Given the description of an element on the screen output the (x, y) to click on. 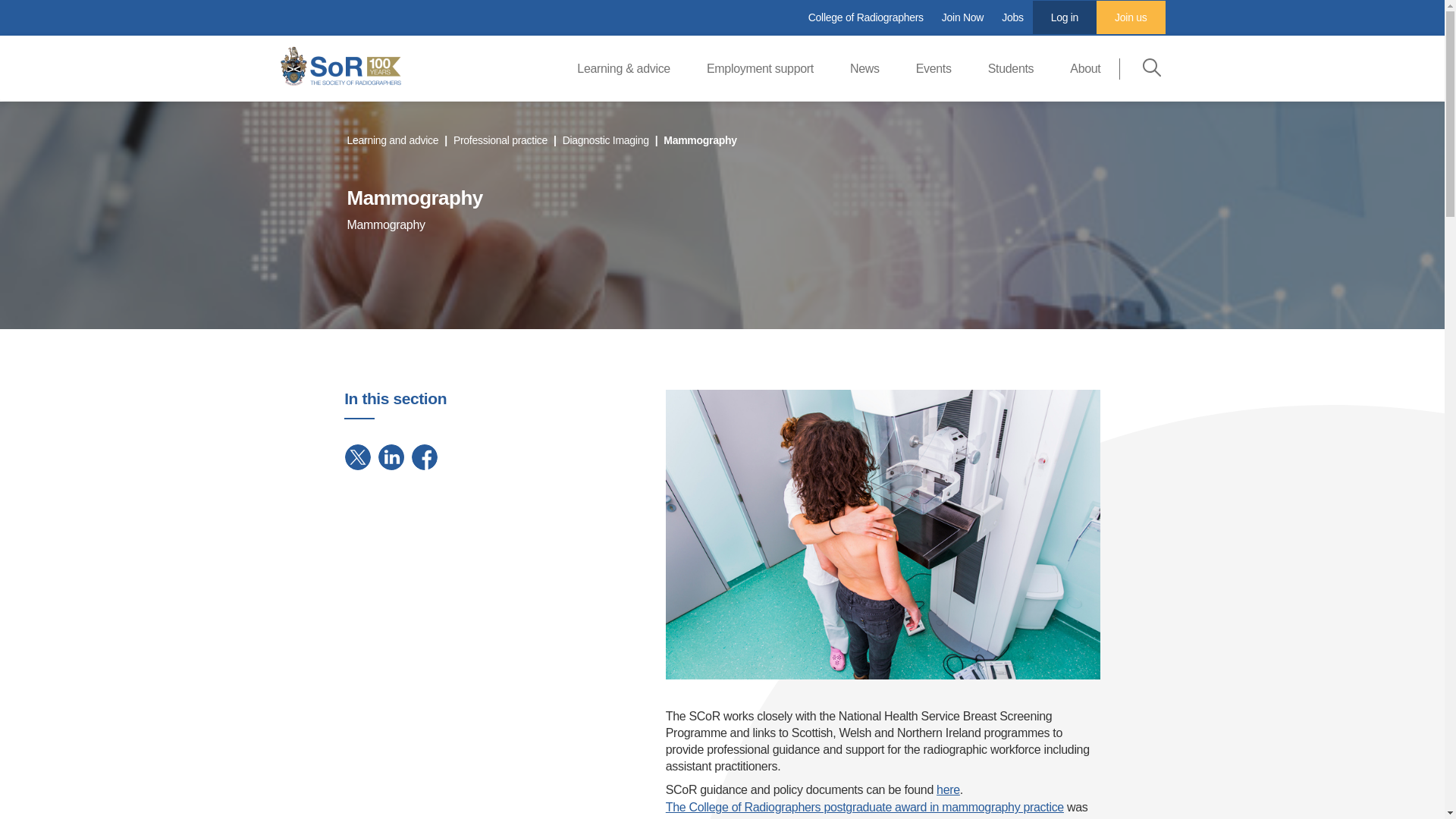
Sign in (1064, 17)
